Given the description of an element on the screen output the (x, y) to click on. 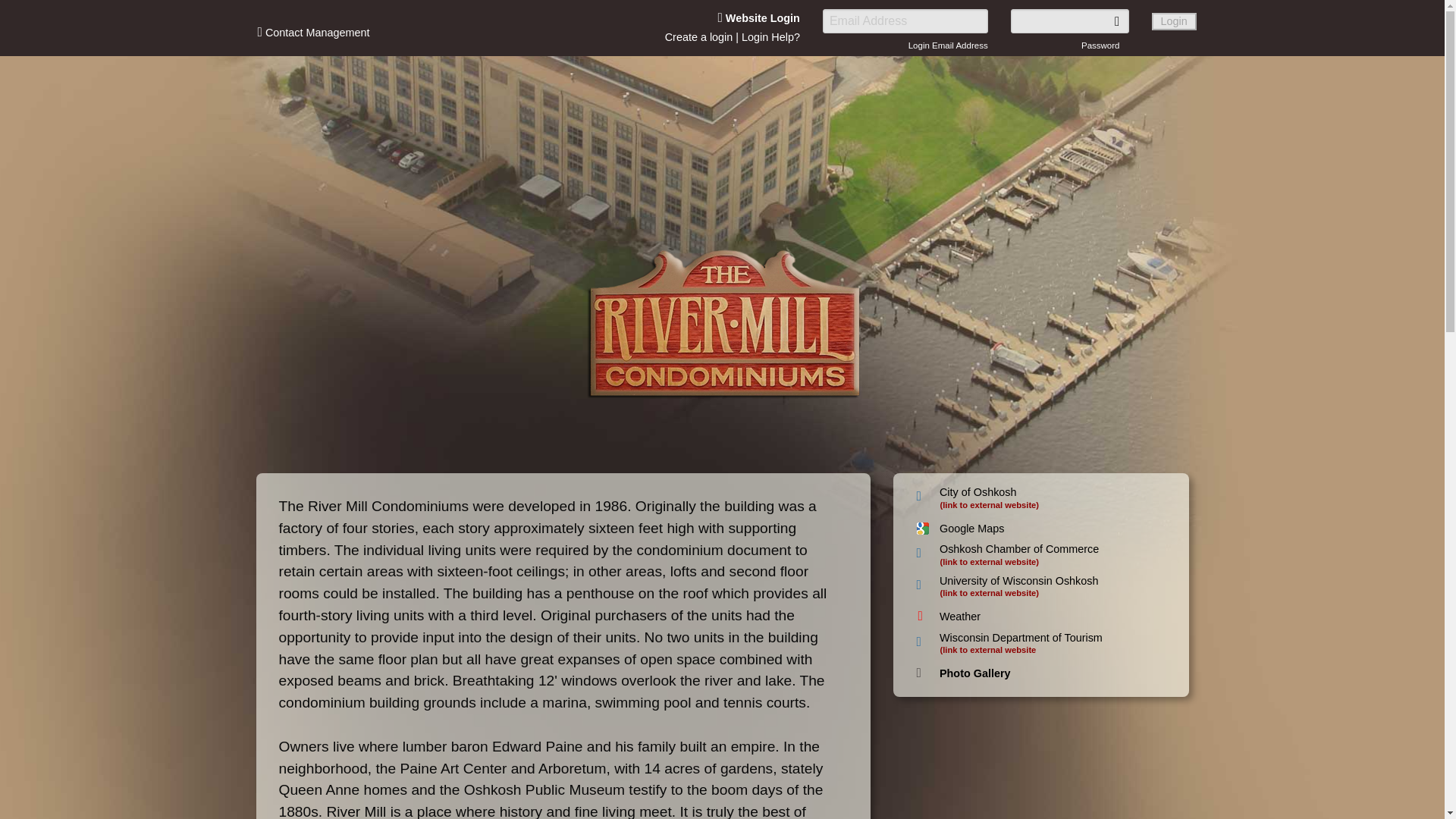
Create a login (699, 37)
Weather (959, 616)
Google Maps (971, 528)
Wisconsin Department of Tourism (1020, 637)
Oshkosh Chamber of Commerce (1019, 548)
University of Wisconsin Oshkosh (1019, 580)
 Login  (1173, 21)
 Login  (1173, 21)
Login Help? (770, 37)
City of Oshkosh (977, 491)
